Given the description of an element on the screen output the (x, y) to click on. 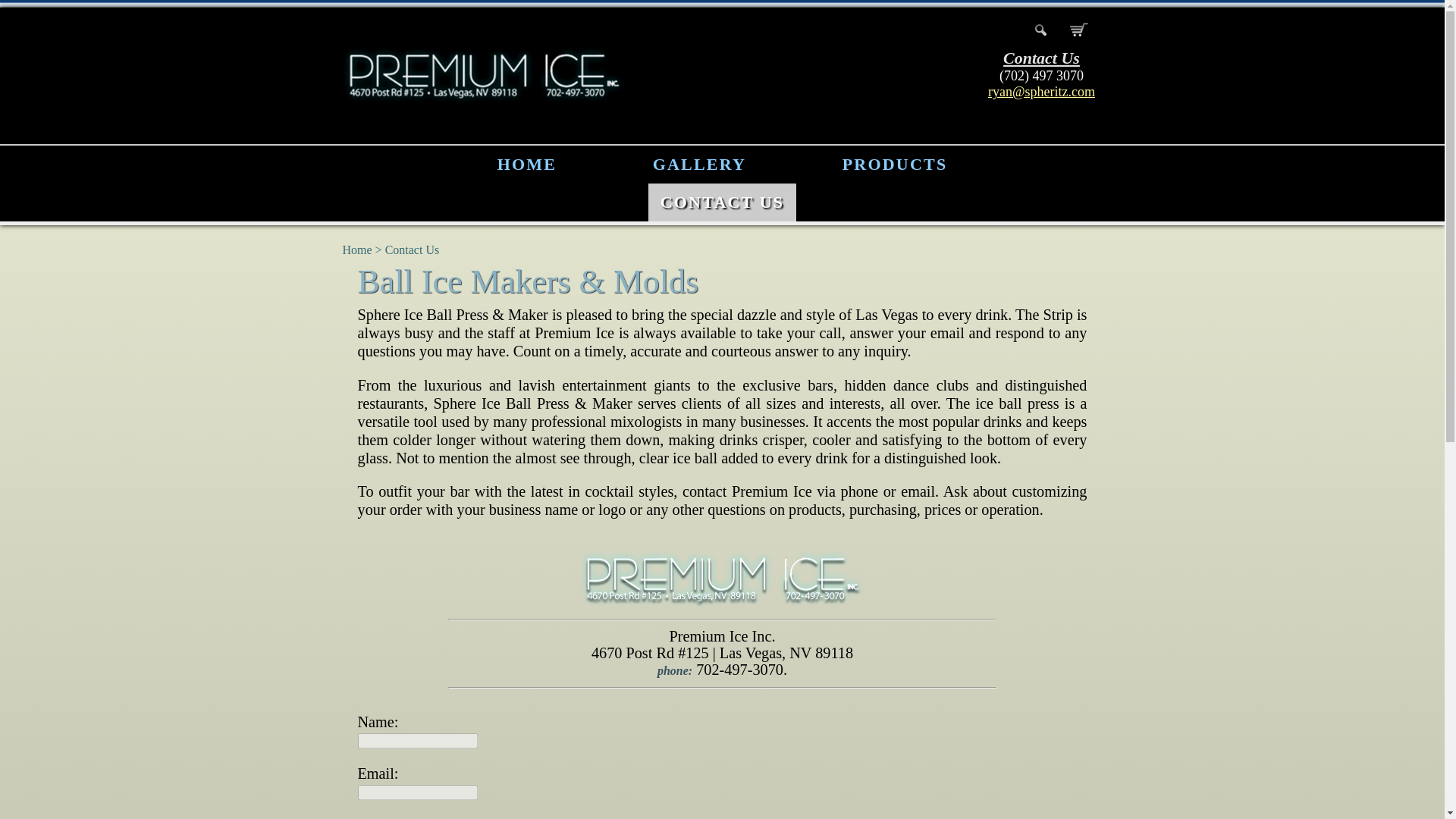
www.premiumice.com (588, 75)
Contact Us (412, 249)
www.premiumice.com (588, 75)
CONTACT US (721, 202)
HOME (526, 164)
PRODUCTS (894, 164)
GALLERY (699, 164)
contact-us (412, 249)
Home (357, 249)
